Given the description of an element on the screen output the (x, y) to click on. 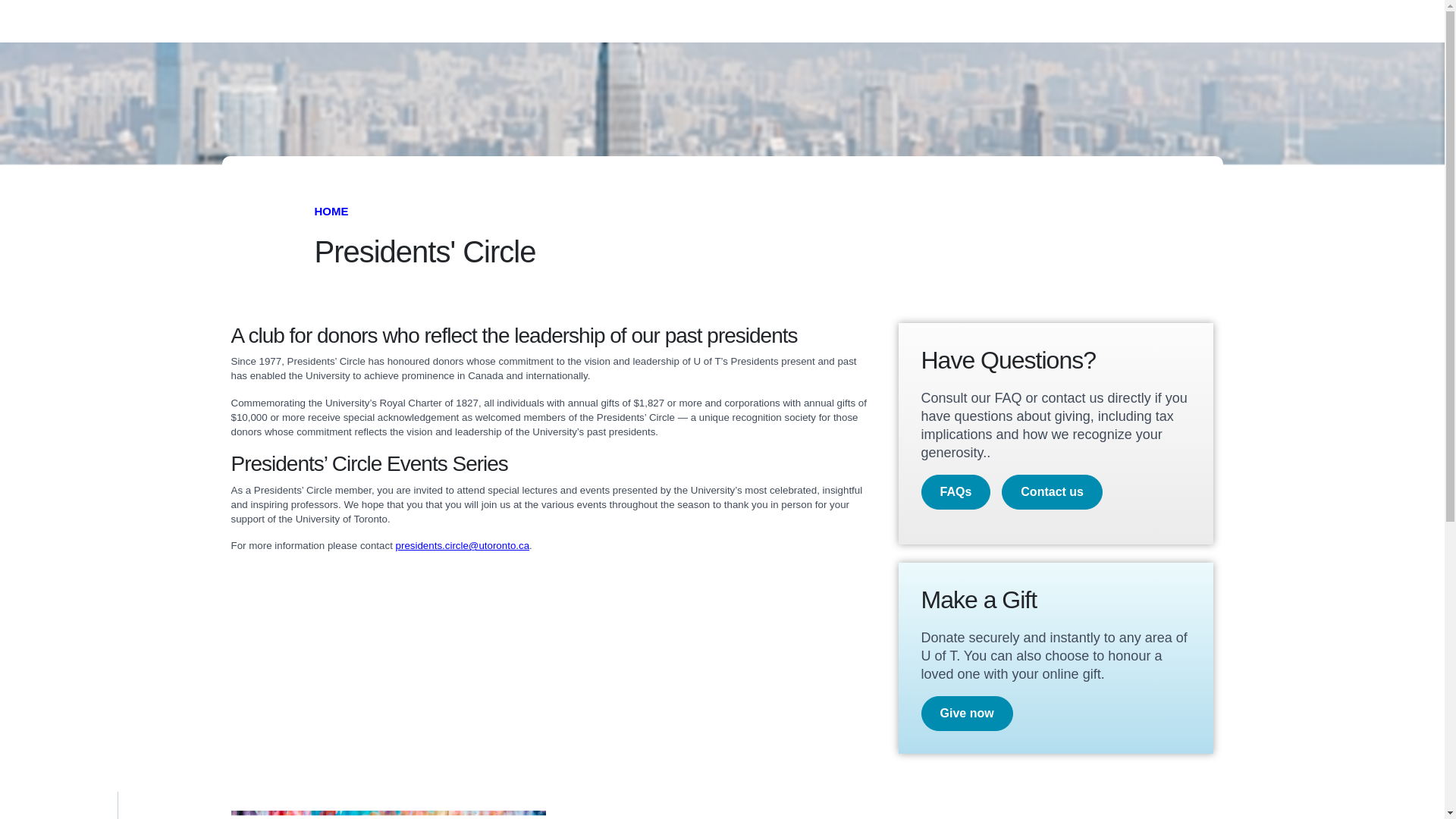
FAQs (955, 492)
Contact us (1051, 492)
Give now (965, 713)
HOME (330, 210)
